Given the description of an element on the screen output the (x, y) to click on. 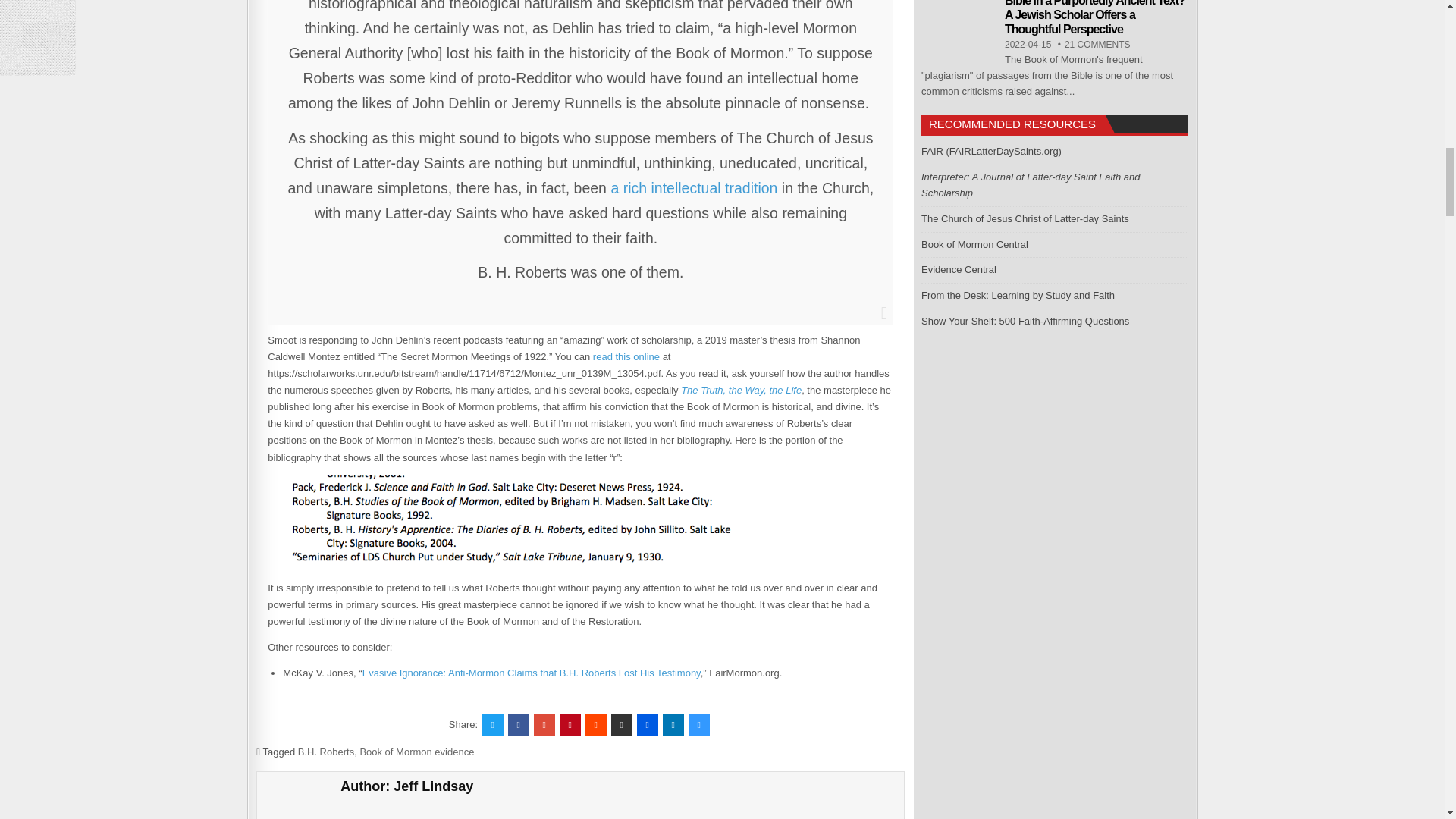
Share this on Digg (647, 724)
The Truth, the Way, the Life (741, 389)
Tweet This! (492, 724)
Share this on VK (621, 724)
read this online (625, 356)
Share this on Linkedin (673, 724)
a rich intellectual tradition (693, 187)
Share this on Reddit (596, 724)
Share this on Facebook (518, 724)
